Given the description of an element on the screen output the (x, y) to click on. 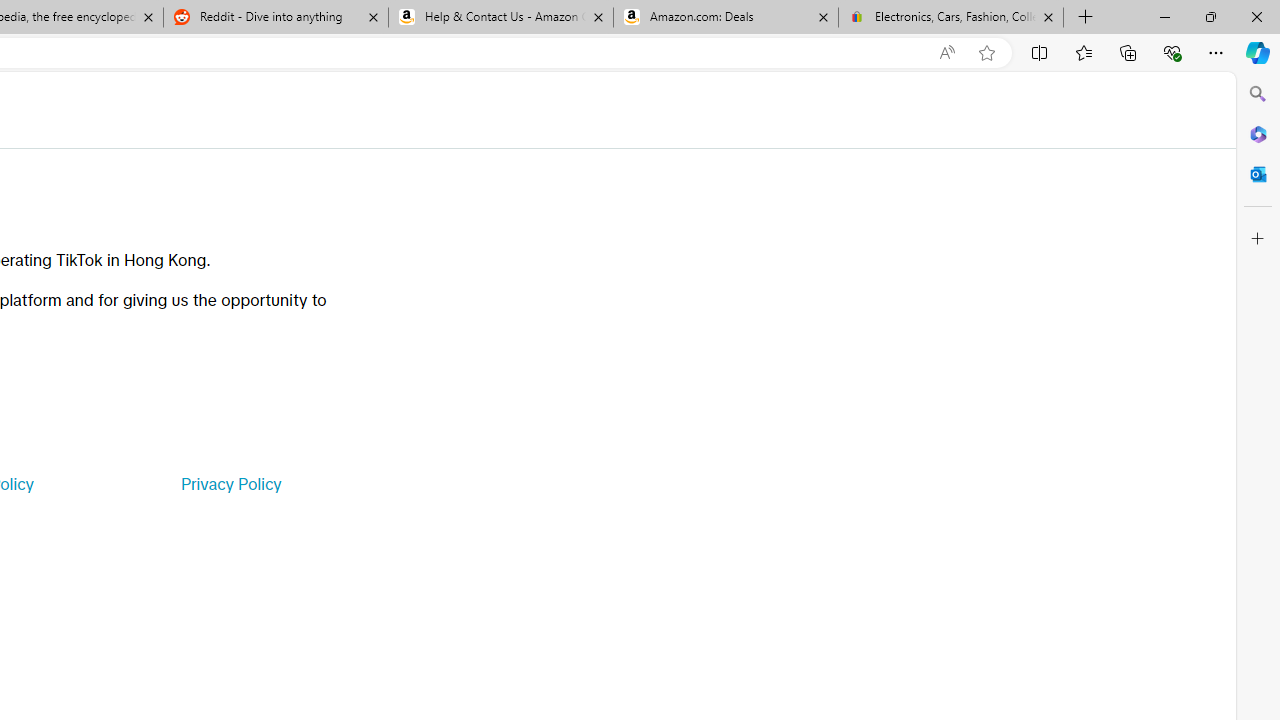
Help & Contact Us - Amazon Customer Service (501, 17)
Privacy Policy (230, 484)
Amazon.com: Deals (726, 17)
